Given the description of an element on the screen output the (x, y) to click on. 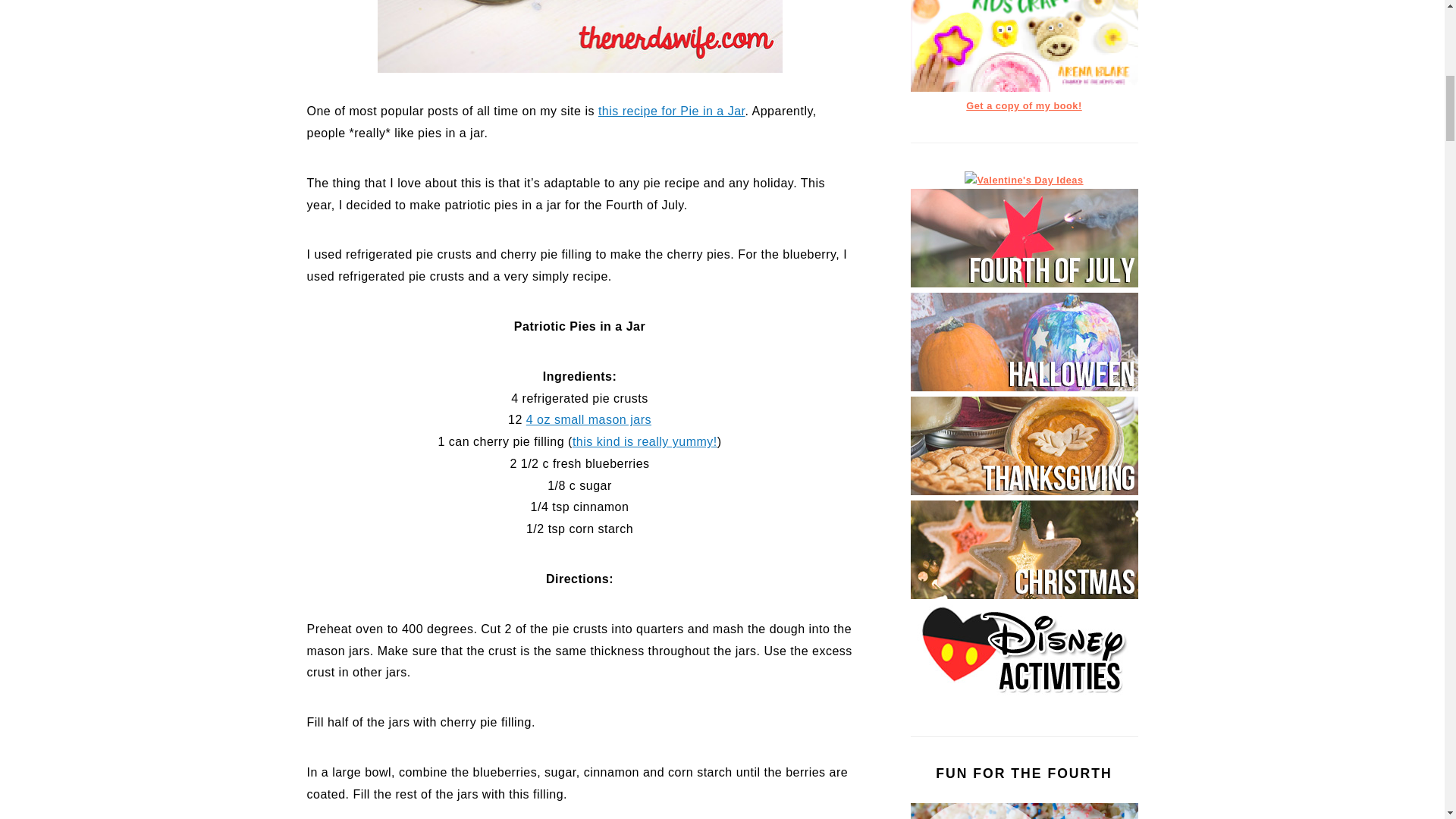
Valentine's Day Ideas (1023, 179)
Edible Kids Crafts (1023, 88)
Thanksgiving Ideas (1023, 491)
this recipe for Pie in a Jar (671, 110)
4 oz small mason jars (587, 419)
Christmas Ideas (1023, 595)
Halloween Ideas (1023, 387)
July 4th Ideas (1023, 283)
this kind is really yummy! (644, 440)
